Given the description of an element on the screen output the (x, y) to click on. 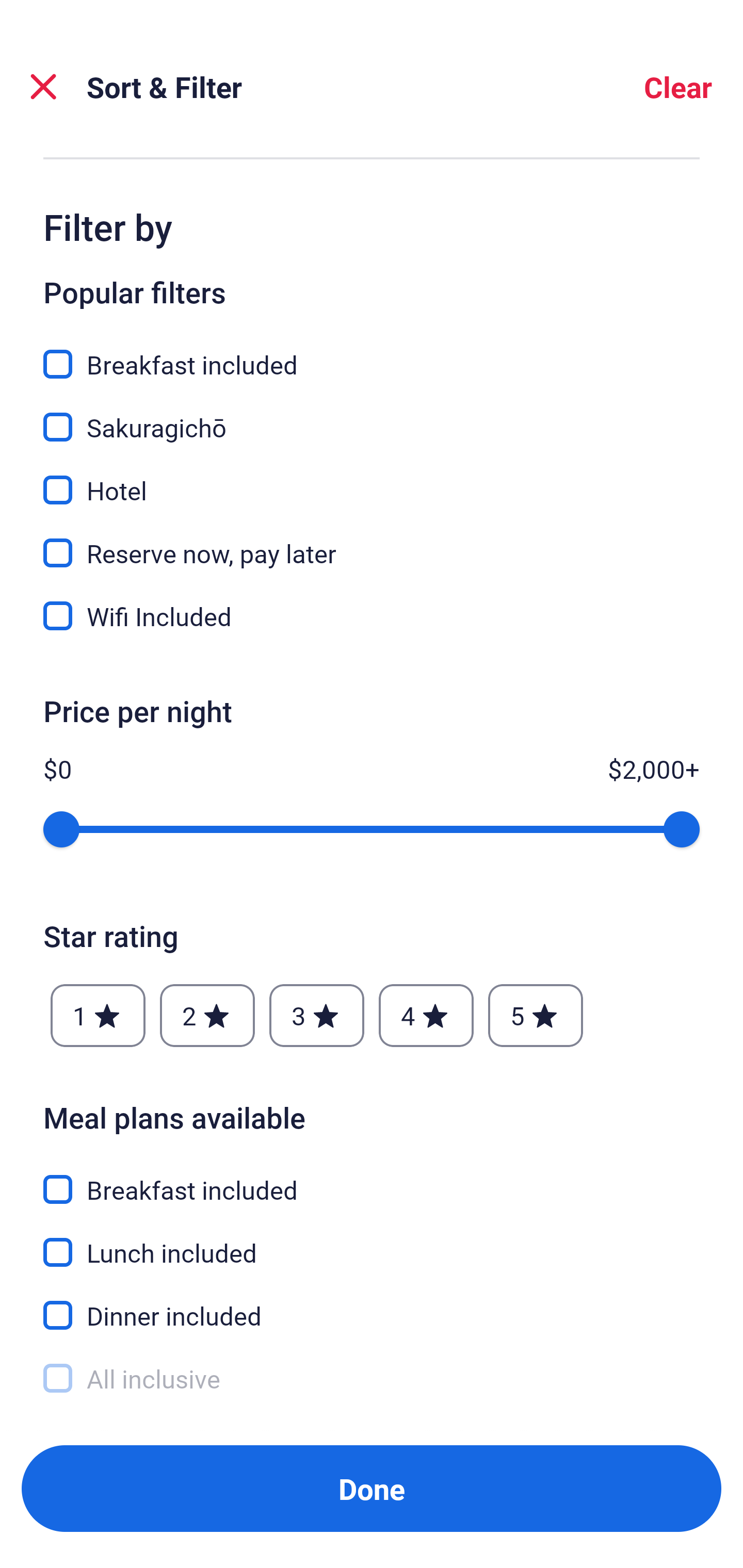
Close Sort and Filter (43, 86)
Clear (677, 86)
Breakfast included, Breakfast included (371, 352)
Sakuragichō, Sakuragichō (371, 415)
Hotel, Hotel (371, 477)
Reserve now, pay later, Reserve now, pay later (371, 540)
Wifi Included, Wifi Included (371, 616)
1 (97, 1015)
2 (206, 1015)
3 (316, 1015)
4 (426, 1015)
5 (535, 1015)
Breakfast included, Breakfast included (371, 1177)
Lunch included, Lunch included (371, 1240)
Dinner included, Dinner included (371, 1304)
All inclusive, All inclusive (371, 1378)
Apply and close Sort and Filter Done (371, 1488)
